Given the description of an element on the screen output the (x, y) to click on. 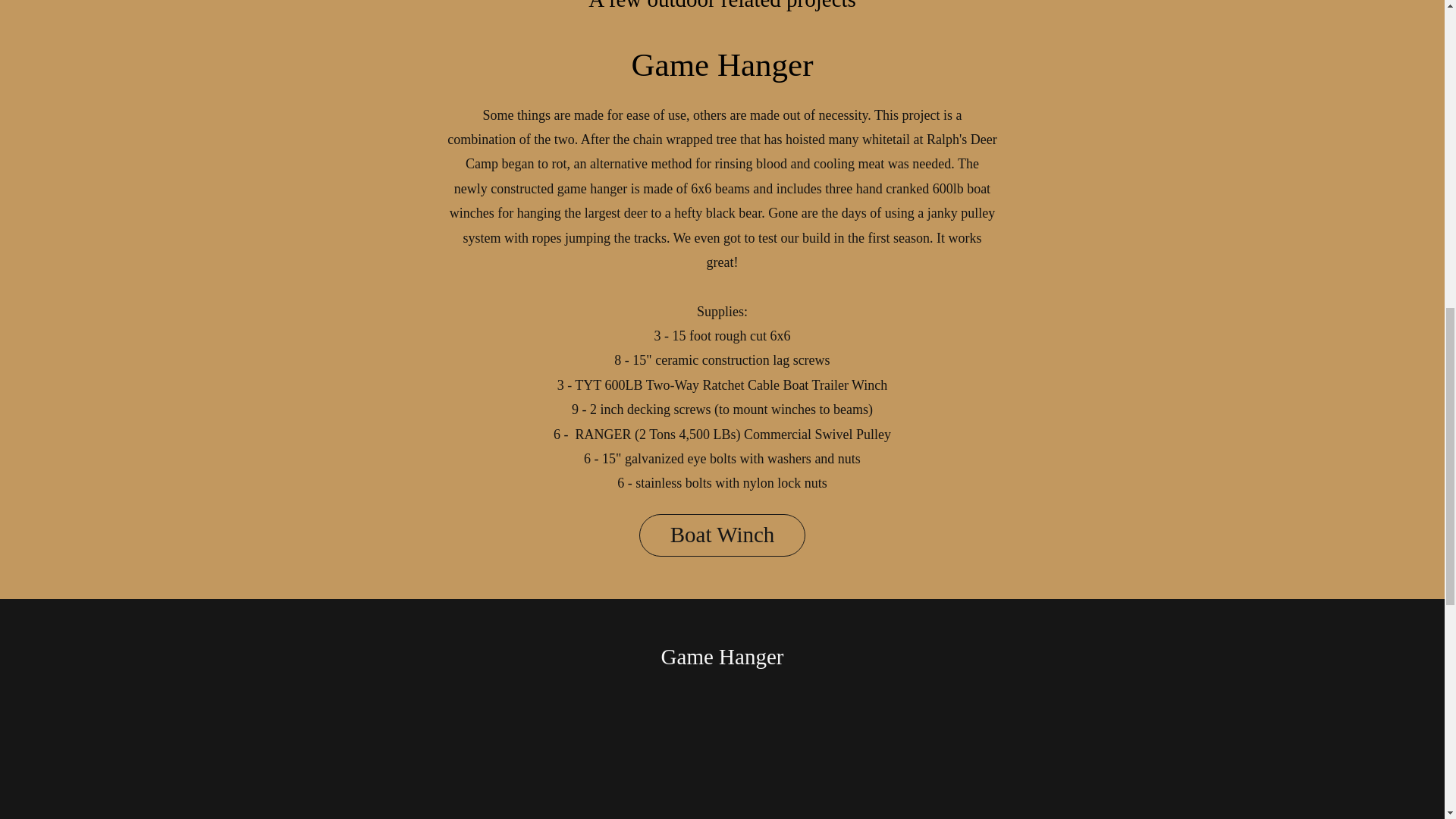
Boat Winch (722, 535)
